Given the description of an element on the screen output the (x, y) to click on. 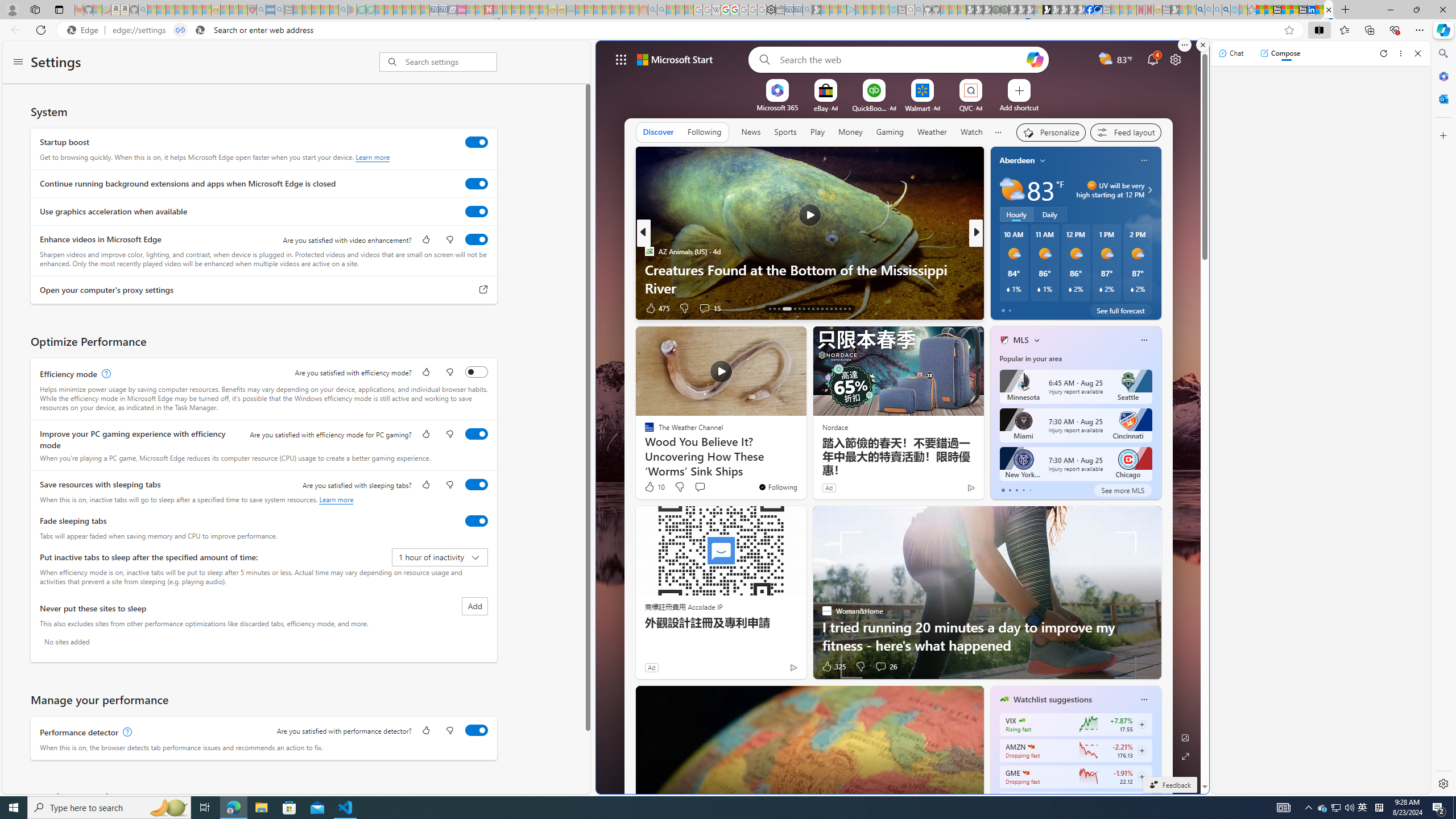
View comments 10 Comment (1054, 307)
475 Like (656, 307)
tab-4 (1029, 489)
Target page - Wikipedia - Sleeping (716, 9)
Pets - MSN - Sleeping (324, 9)
AutomationID: tab-26 (835, 308)
Add site to never put these sites to sleep list (474, 606)
